Given the description of an element on the screen output the (x, y) to click on. 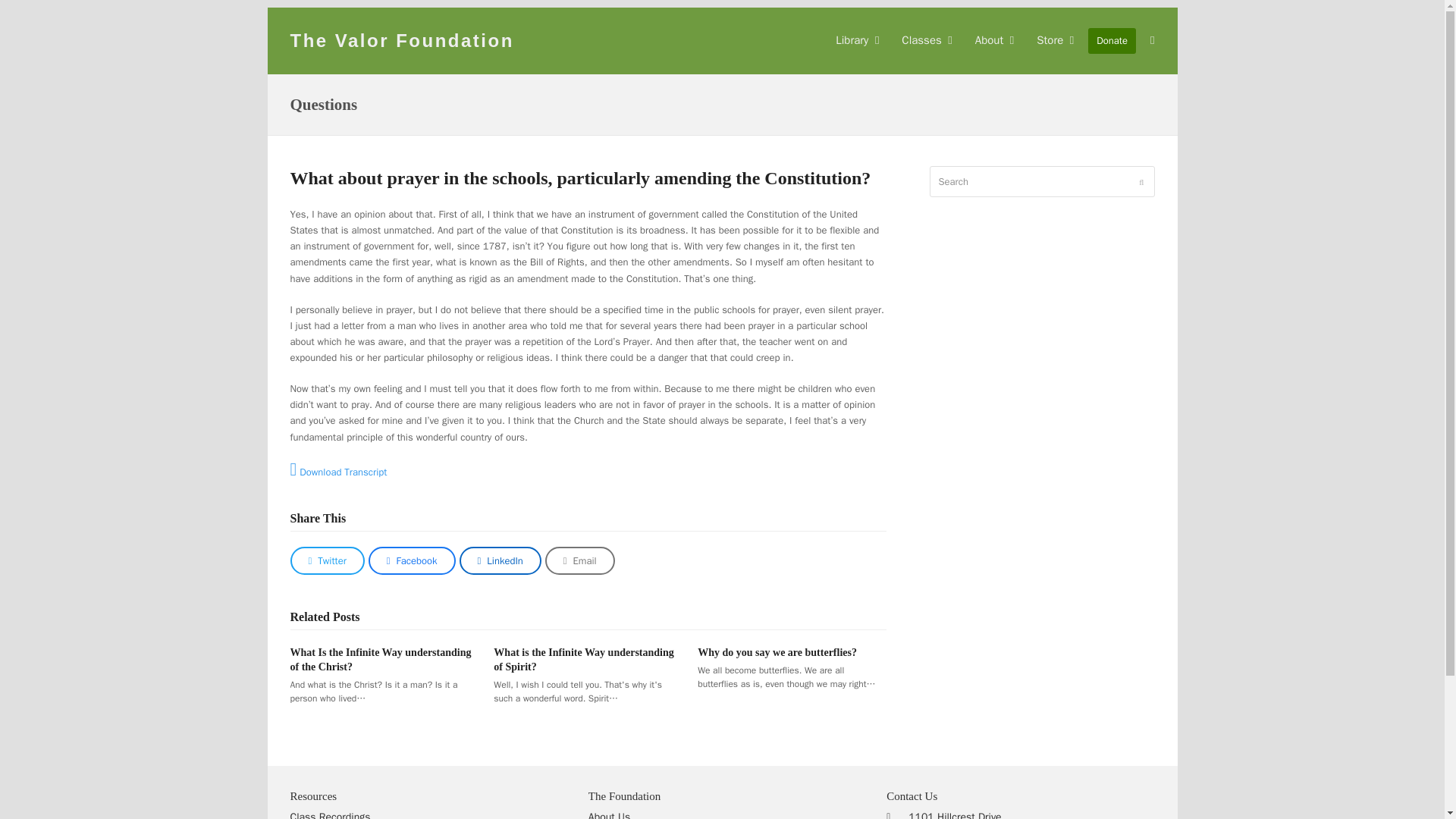
LinkedIn (500, 560)
Twitter (326, 560)
Store (1054, 40)
What Is the Infinite Way understanding of the Christ? (379, 659)
Why do you say we are butterflies? (777, 652)
Library (856, 40)
What is the Infinite Way understanding of Spirit? (582, 659)
Donate (1111, 40)
Download Transcript (338, 472)
The Valor Foundation (401, 40)
Facebook (411, 560)
Classes (925, 40)
About (994, 40)
Email (579, 560)
Class Recordings (329, 814)
